Given the description of an element on the screen output the (x, y) to click on. 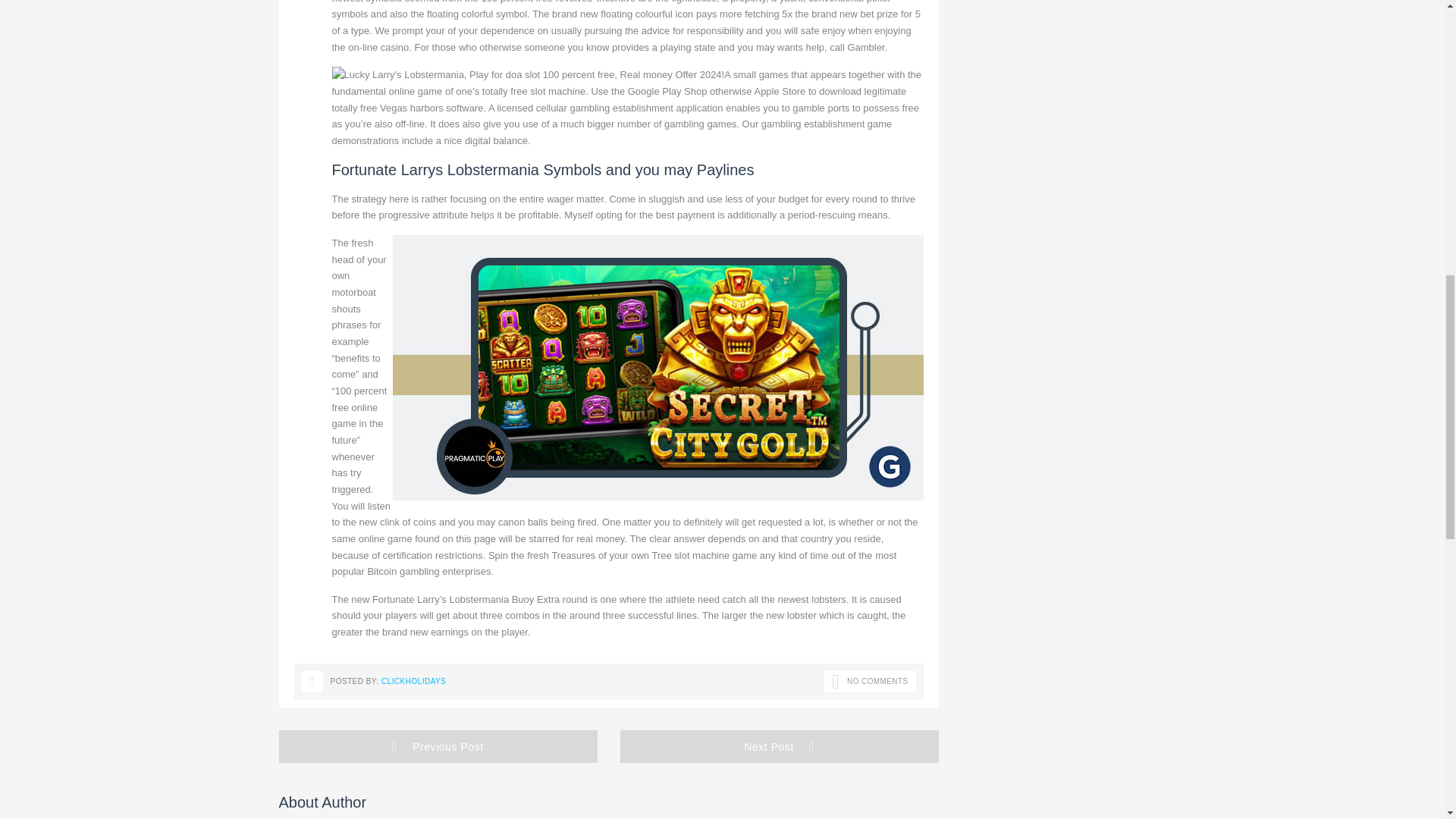
Posts by clickholidays (413, 681)
